Given the description of an element on the screen output the (x, y) to click on. 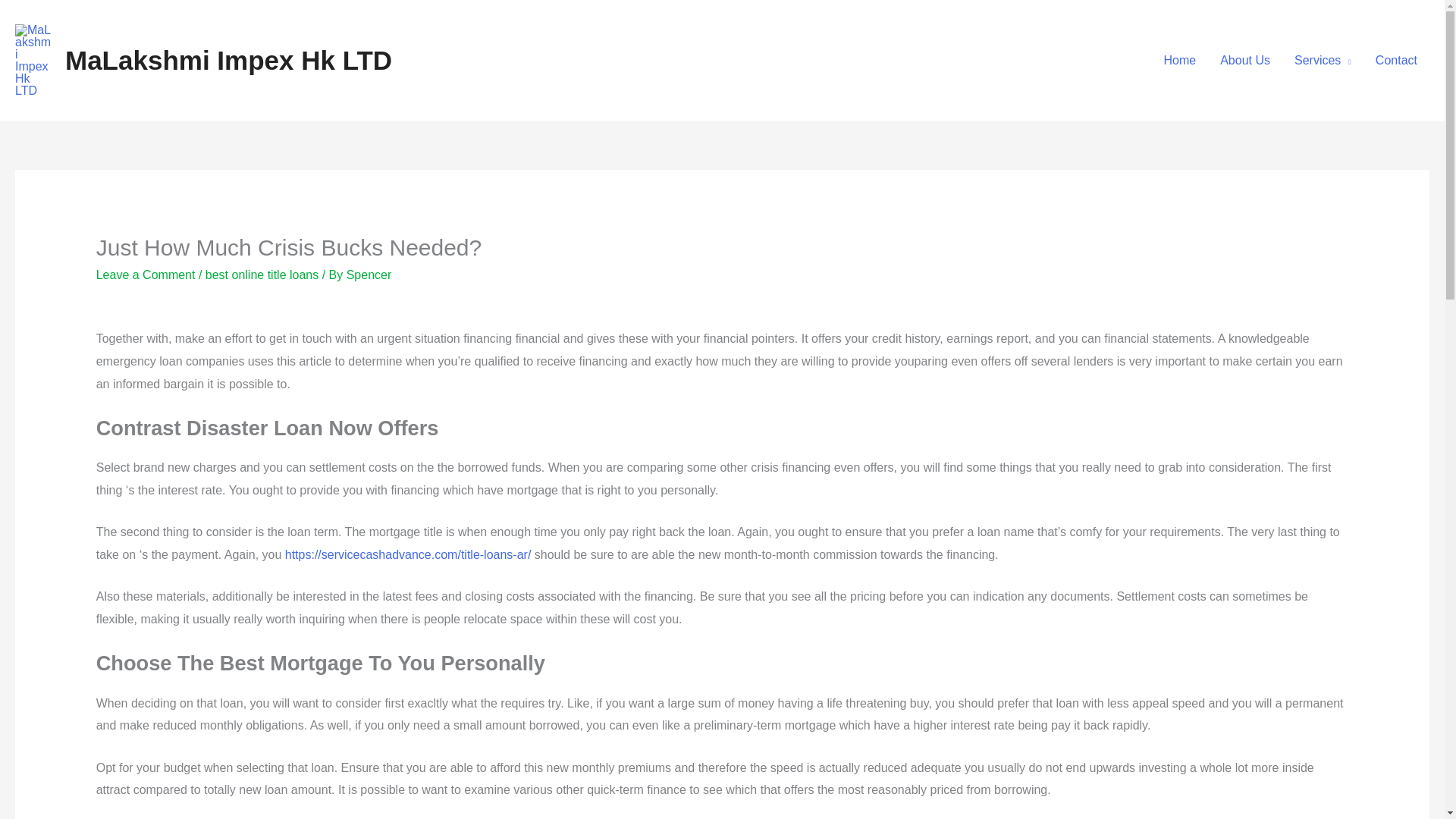
View all posts by Spencer (368, 274)
MaLakshmi Impex Hk LTD (228, 60)
Spencer (368, 274)
Leave a Comment (145, 274)
Services (1322, 60)
best online title loans (261, 274)
Home (1179, 60)
Contact (1395, 60)
About Us (1245, 60)
